Given the description of an element on the screen output the (x, y) to click on. 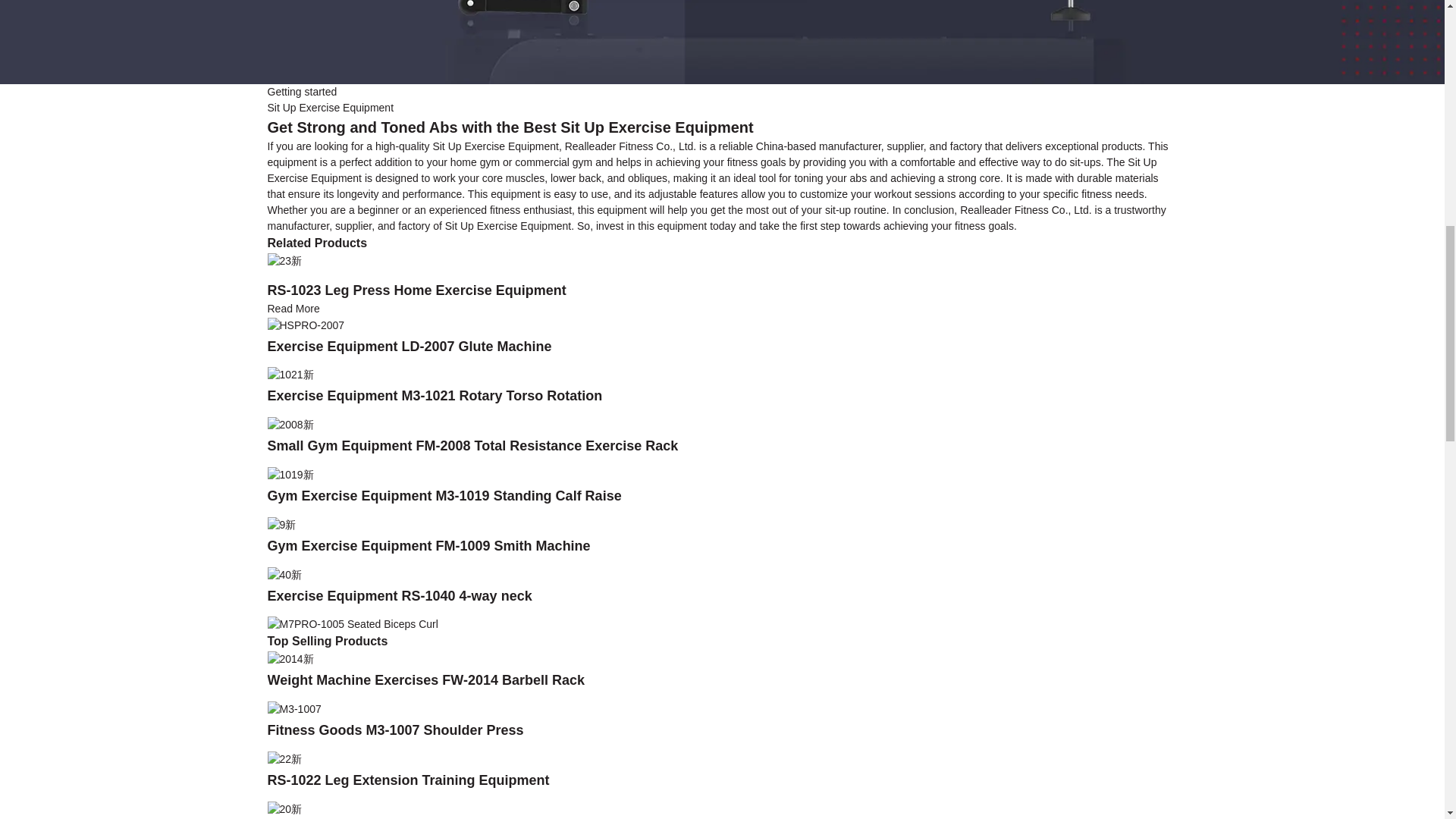
Gym Exercise Equipment M3-1019 Standing Calf Raise (289, 473)
Gym Exercise Equipment M3-1019 Standing Calf Raise (443, 495)
Exercise Equipment M3-1021 Rotary Torso Rotation (434, 395)
RS-1023 Leg Press Home Exercise Equipment (416, 290)
Small Gym Equipment FM-2008 Total Resistance Exercise Rack (289, 423)
RS-1023 Leg Press Home Exercise Equipment (292, 308)
Small Gym Equipment FM-2008 Total Resistance Exercise Rack (472, 445)
RS-1023 Leg Press Home Exercise Equipment (283, 259)
Exercise Equipment M3-1021 Rotary Torso Rotation (434, 395)
Gym Exercise Equipment FM-1009 Smith Machine (280, 523)
